Given the description of an element on the screen output the (x, y) to click on. 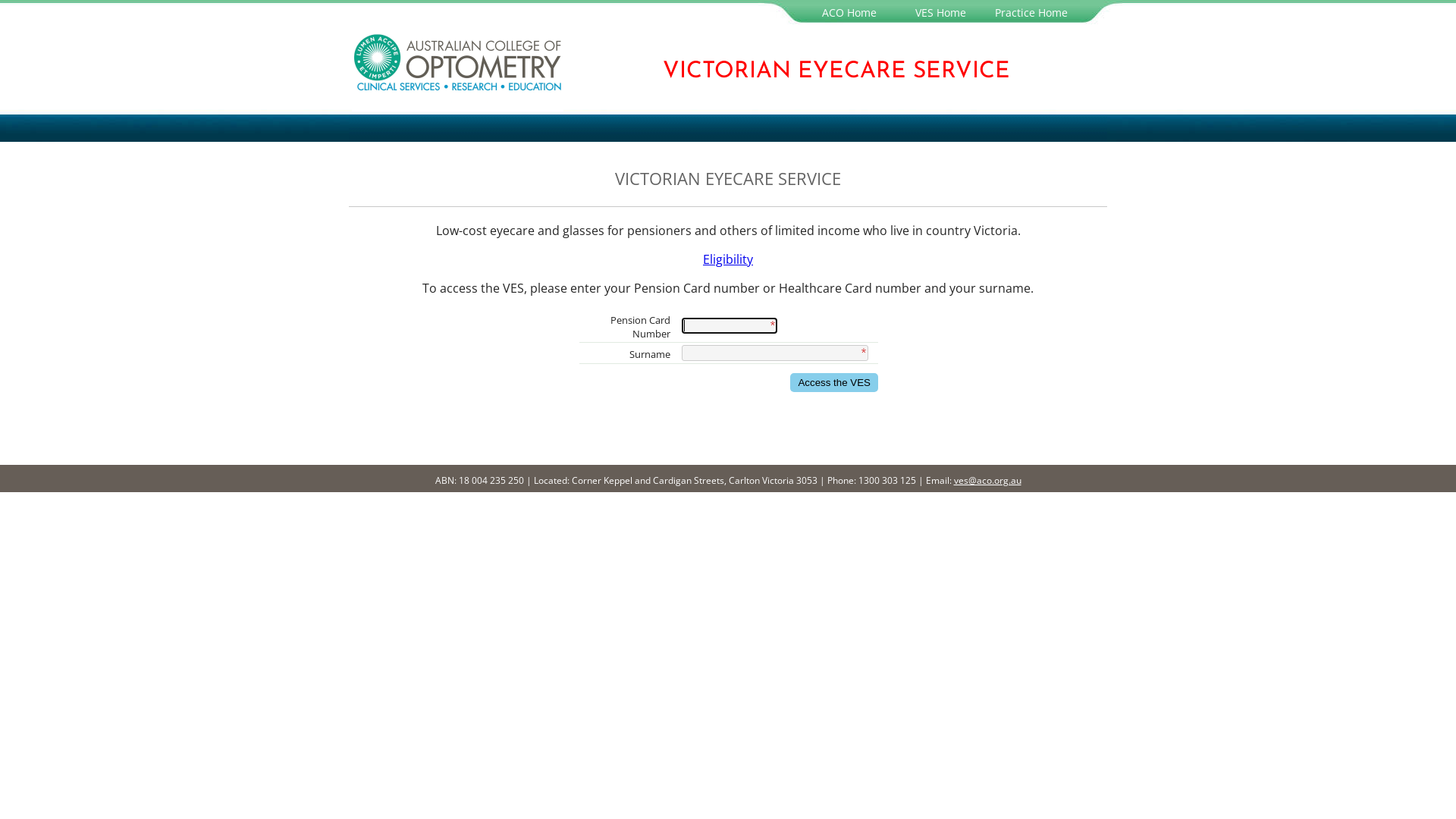
ACO Home Element type: text (849, 11)
ves@aco.org.au Element type: text (987, 479)
Practice Home Element type: text (1030, 11)
VES Home Element type: text (939, 11)
Access the VES Element type: text (834, 382)
Eligibility Element type: text (727, 259)
